Given the description of an element on the screen output the (x, y) to click on. 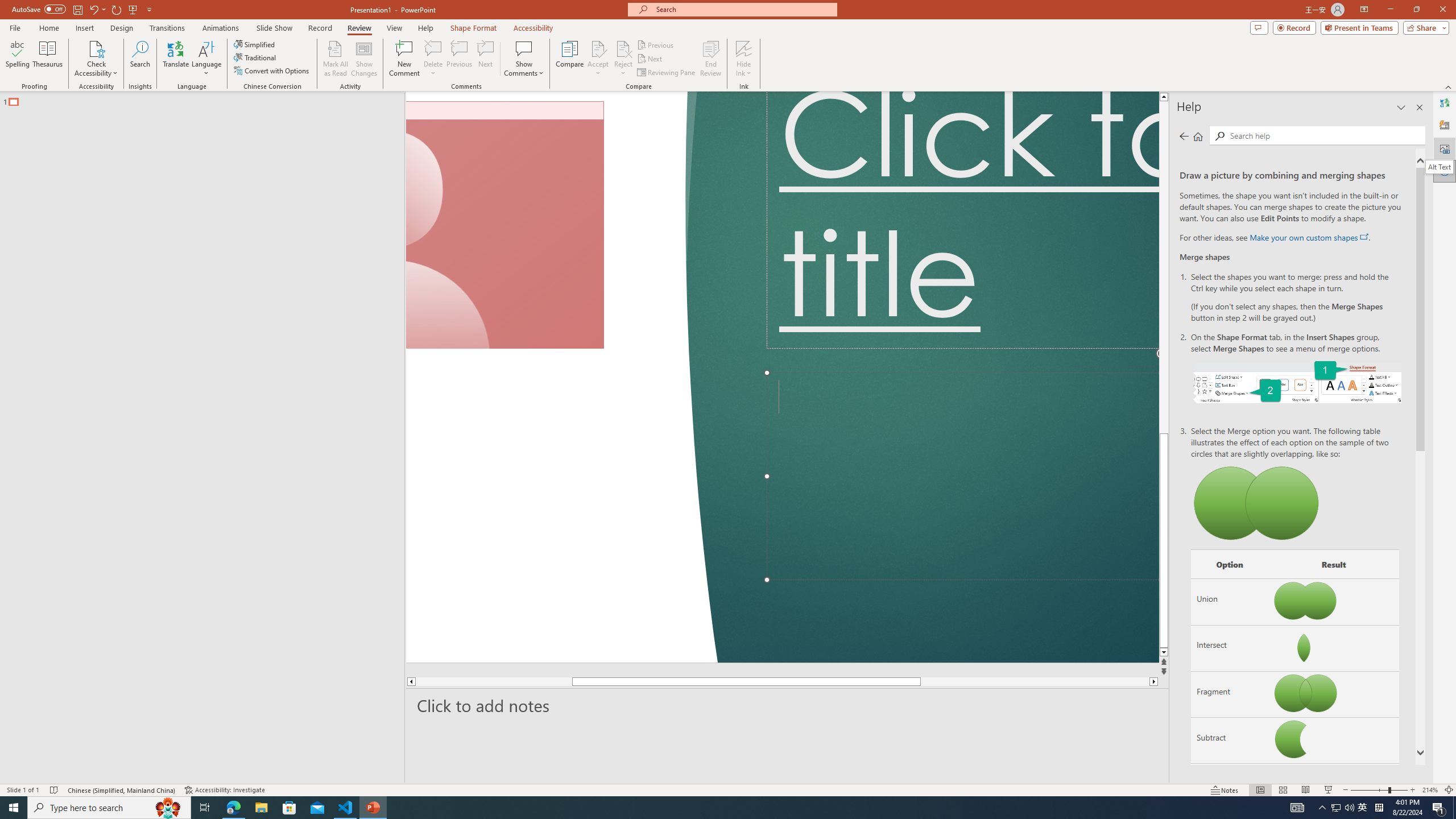
View (395, 28)
Intersect (1229, 647)
Insert (83, 28)
Collapse the Ribbon (1448, 86)
Comments (1259, 27)
Show Comments (524, 48)
More Options (743, 68)
Subtract (1229, 740)
Check Accessibility (95, 58)
Zoom Out (1370, 790)
New Comment (403, 58)
Outline (207, 99)
Page down (1034, 681)
